Given the description of an element on the screen output the (x, y) to click on. 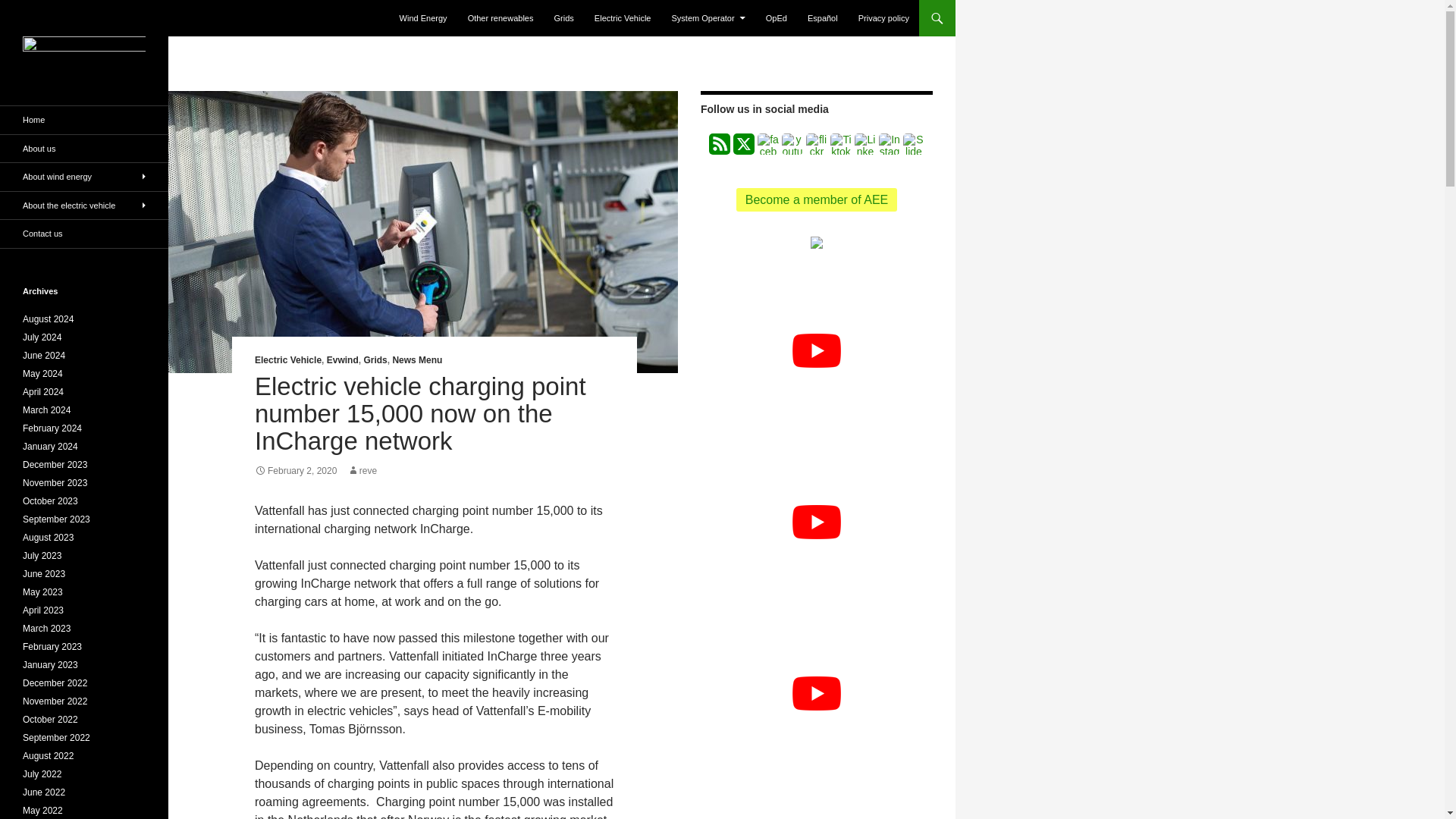
Privacy policy (883, 18)
Grids (374, 359)
Become a member of AEE (817, 199)
OpEd (776, 18)
February 2, 2020 (295, 470)
News Menu (416, 359)
facebook (767, 143)
reve (362, 470)
Electric Vehicle (287, 359)
Wind Energy (423, 18)
